Given the description of an element on the screen output the (x, y) to click on. 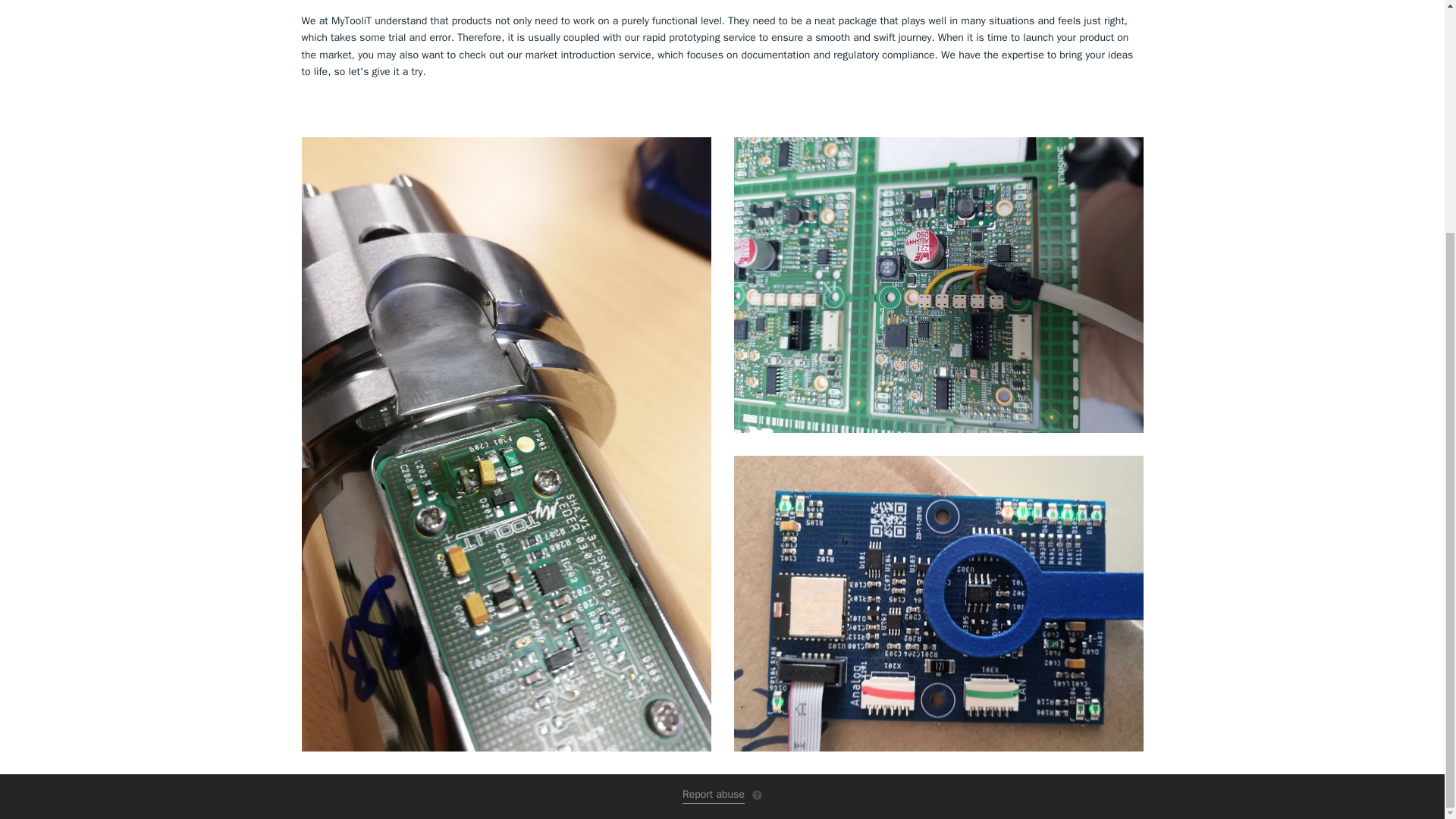
Report abuse (713, 794)
